Given the description of an element on the screen output the (x, y) to click on. 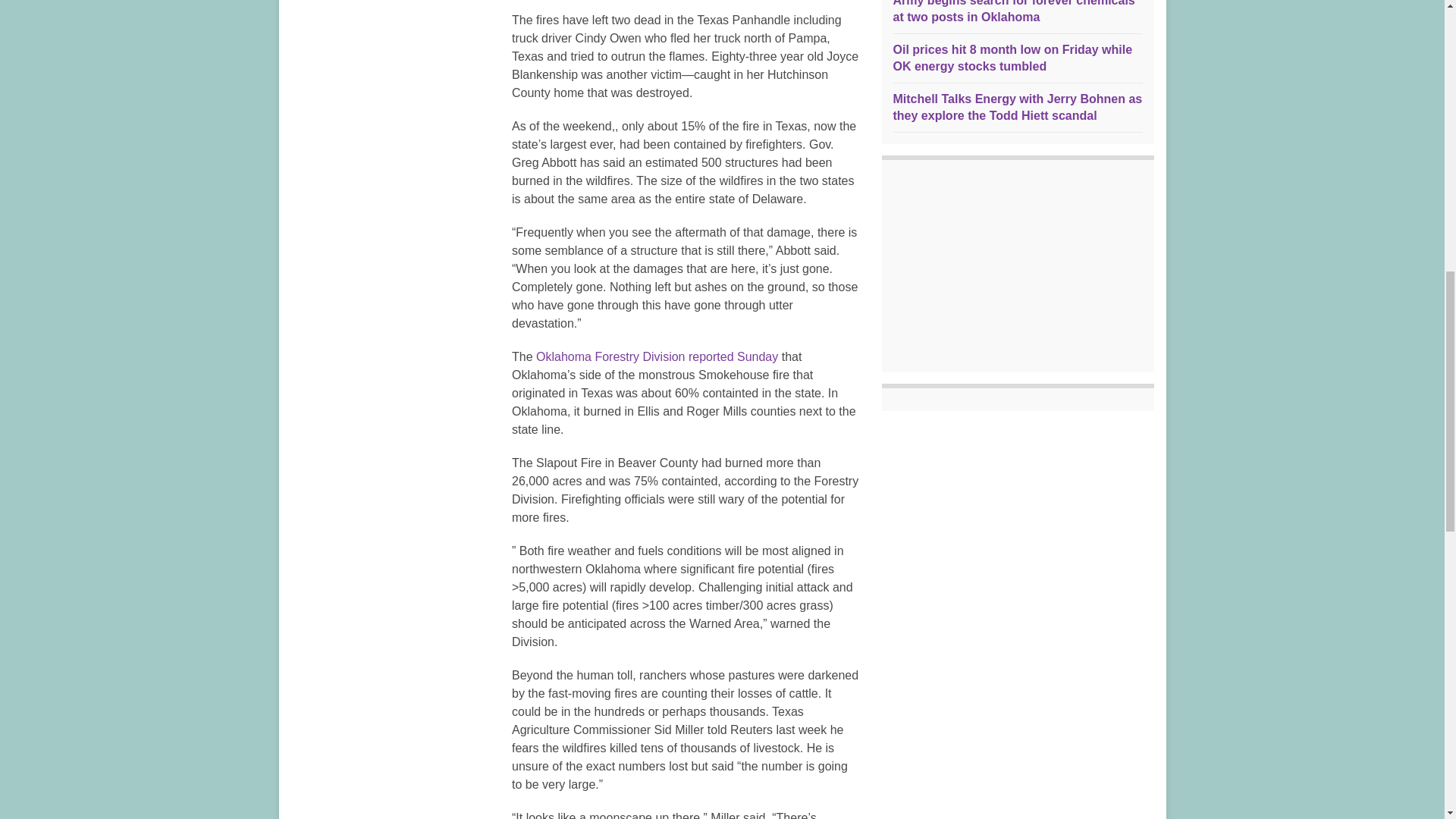
Oklahoma Forestry Division reported Sunday (656, 356)
